Given the description of an element on the screen output the (x, y) to click on. 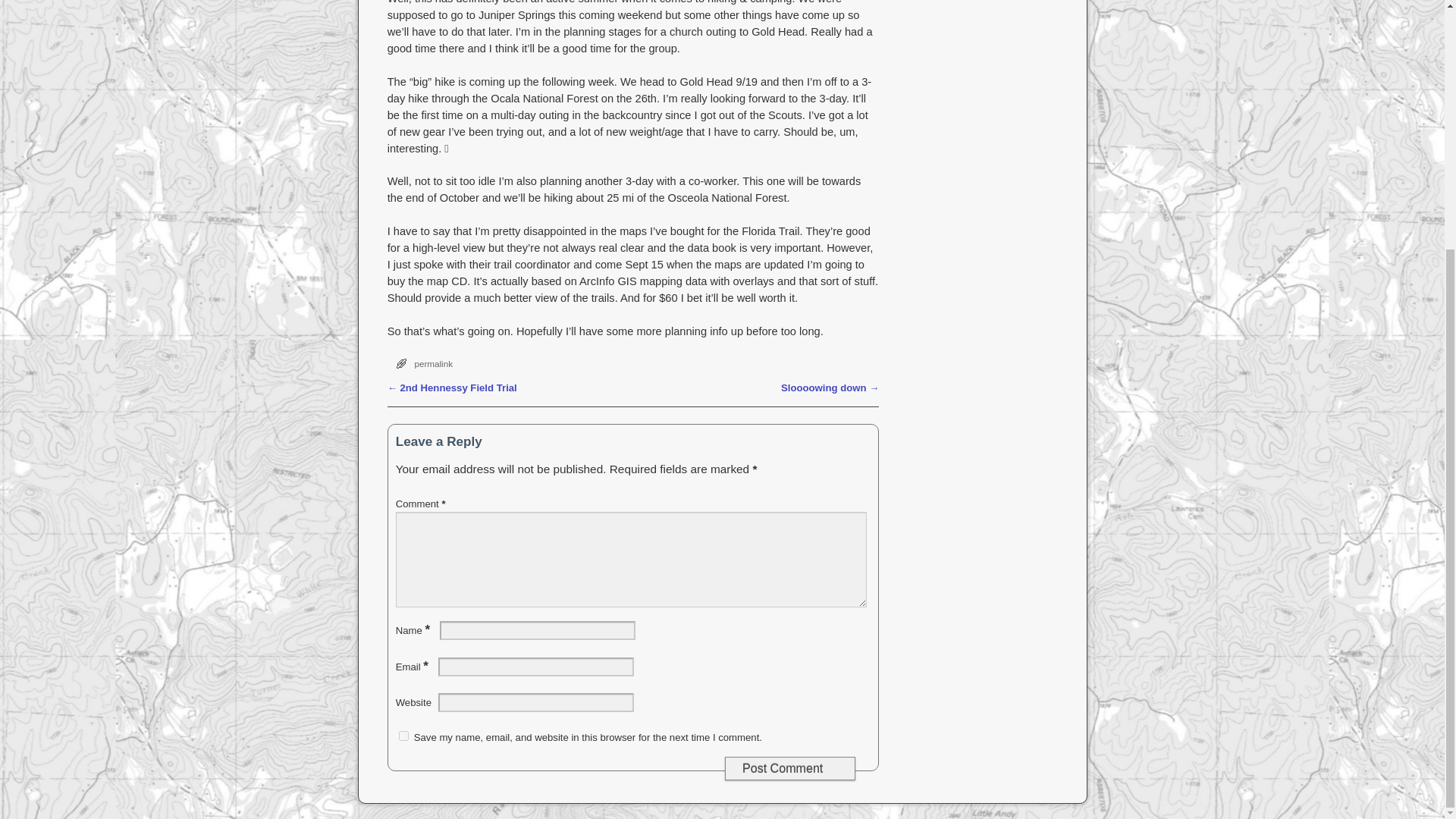
Permalink to Hike Planning (432, 363)
yes (403, 736)
Post Comment (790, 768)
